Given the description of an element on the screen output the (x, y) to click on. 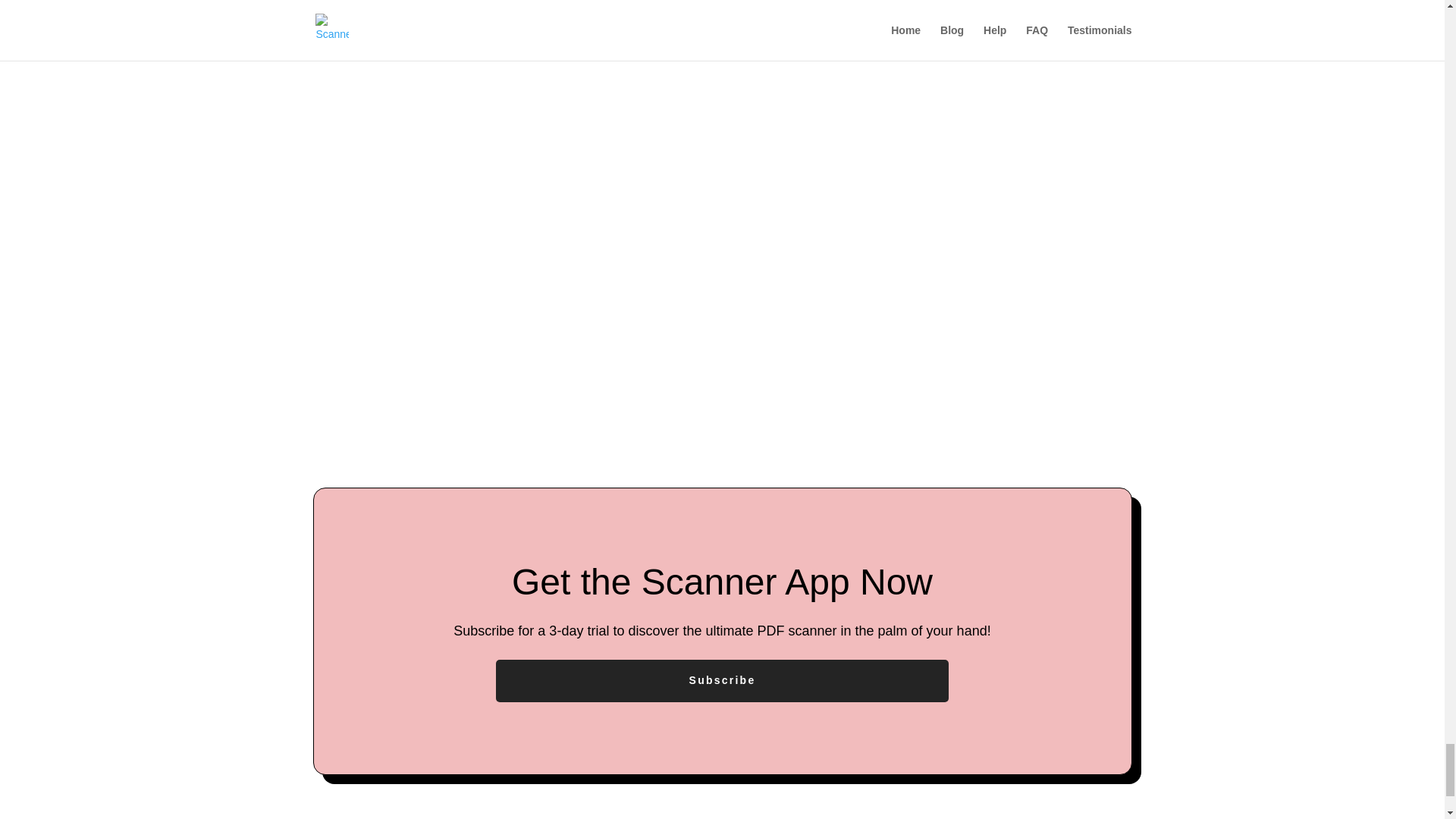
Subscribe (722, 680)
